Given the description of an element on the screen output the (x, y) to click on. 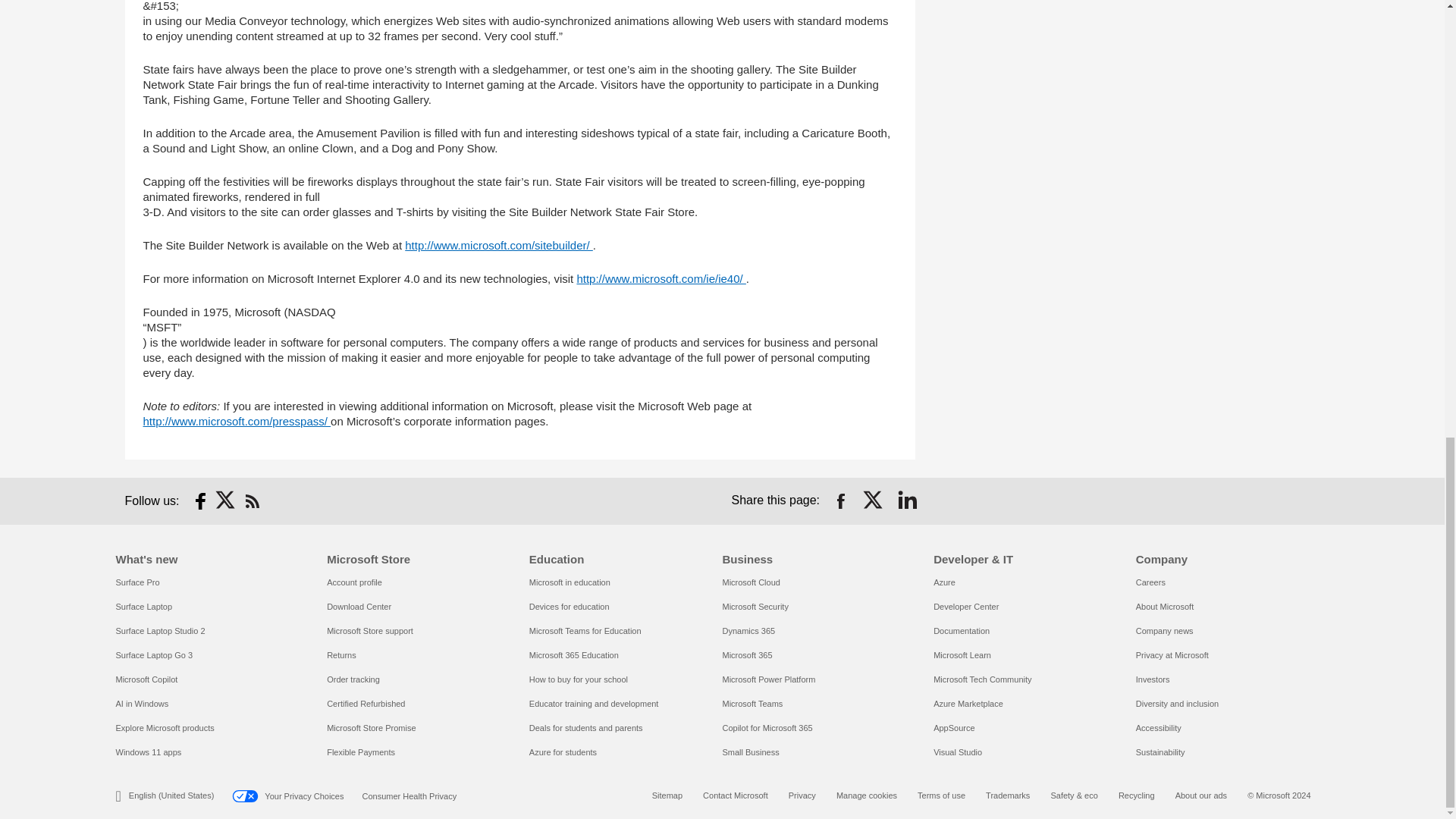
RSS Subscription (252, 500)
Follow on Twitter (226, 500)
Share on Facebook (840, 500)
Follow on Facebook (200, 500)
Share on LinkedIn (907, 500)
Share on Twitter (873, 500)
